Given the description of an element on the screen output the (x, y) to click on. 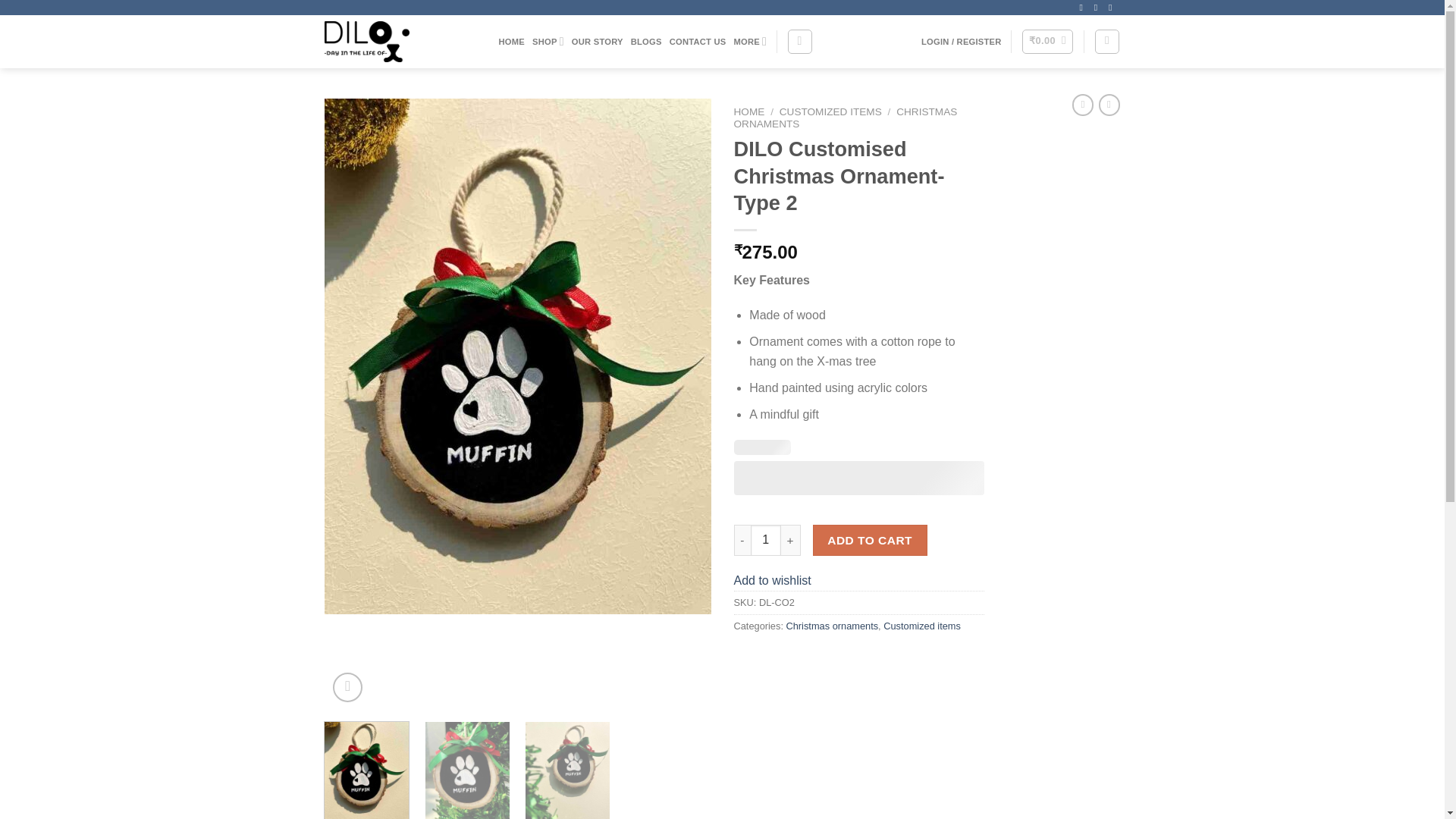
Cart (1047, 41)
BLOGS (646, 41)
Zoom (347, 686)
OUR STORY (597, 41)
HOME (511, 41)
MORE (750, 41)
1 (765, 539)
Login (961, 41)
DILO - Day In The Life Of (400, 41)
